Given the description of an element on the screen output the (x, y) to click on. 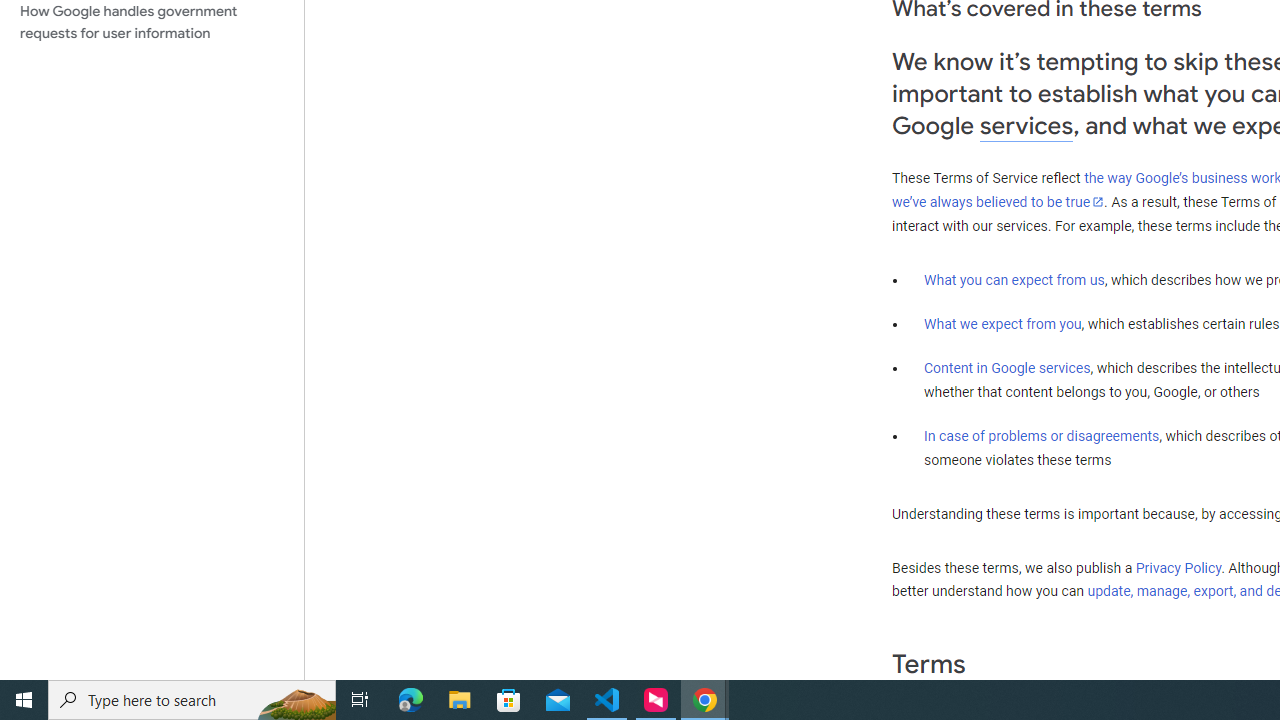
In case of problems or disagreements (1041, 435)
What you can expect from us (1014, 279)
Content in Google services (1007, 368)
services (1026, 125)
What we expect from you (1002, 323)
